Given the description of an element on the screen output the (x, y) to click on. 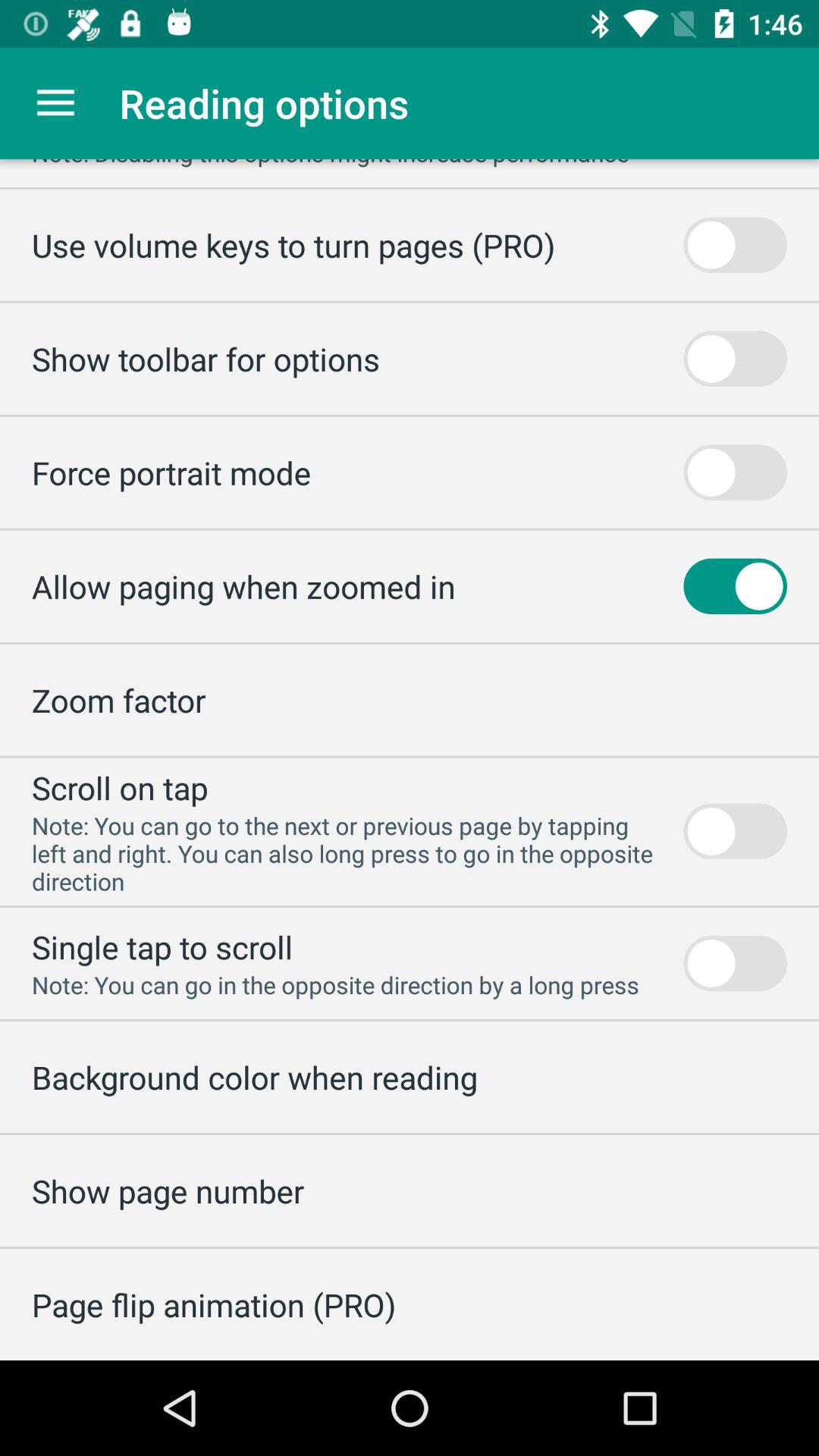
choose zoom factor icon (118, 699)
